Given the description of an element on the screen output the (x, y) to click on. 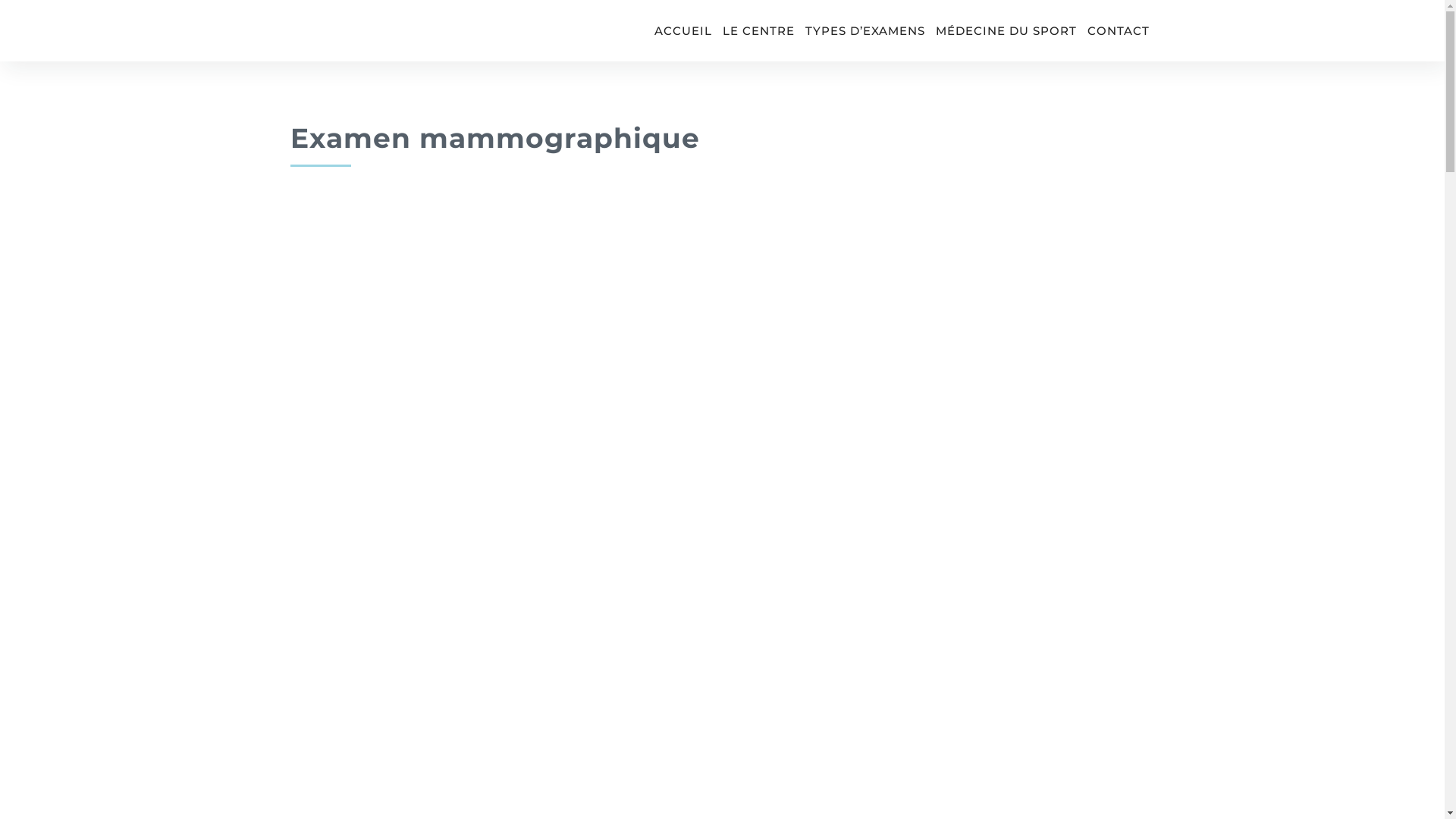
ACCUEIL Element type: text (682, 30)
CONTACT Element type: text (1118, 30)
LE CENTRE Element type: text (757, 30)
